Given the description of an element on the screen output the (x, y) to click on. 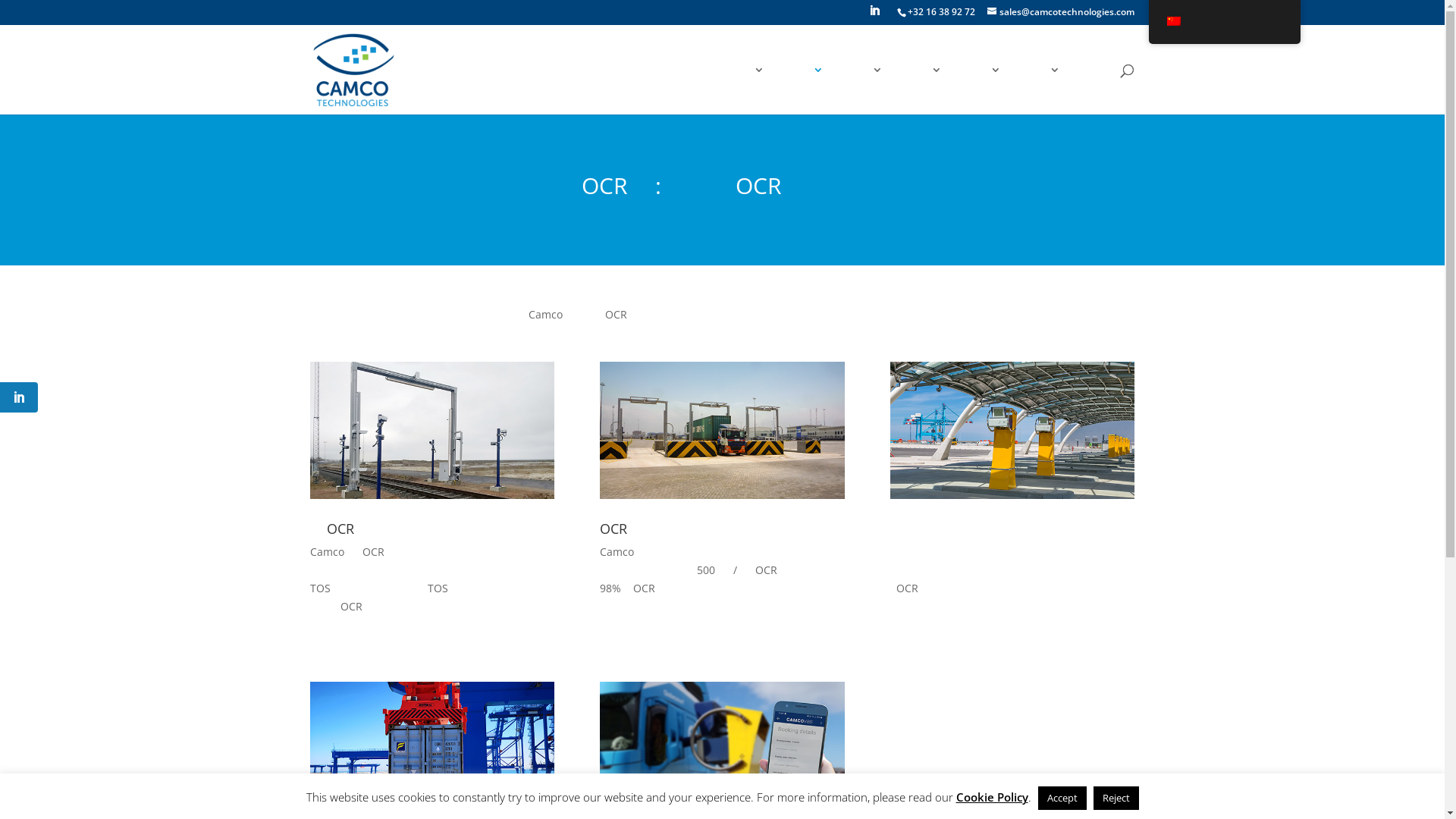
Cookie Policy Element type: text (991, 796)
Accept Element type: text (1061, 797)
Reject Element type: text (1116, 797)
sales@camcotechnologies.com Element type: text (1060, 11)
